Given the description of an element on the screen output the (x, y) to click on. 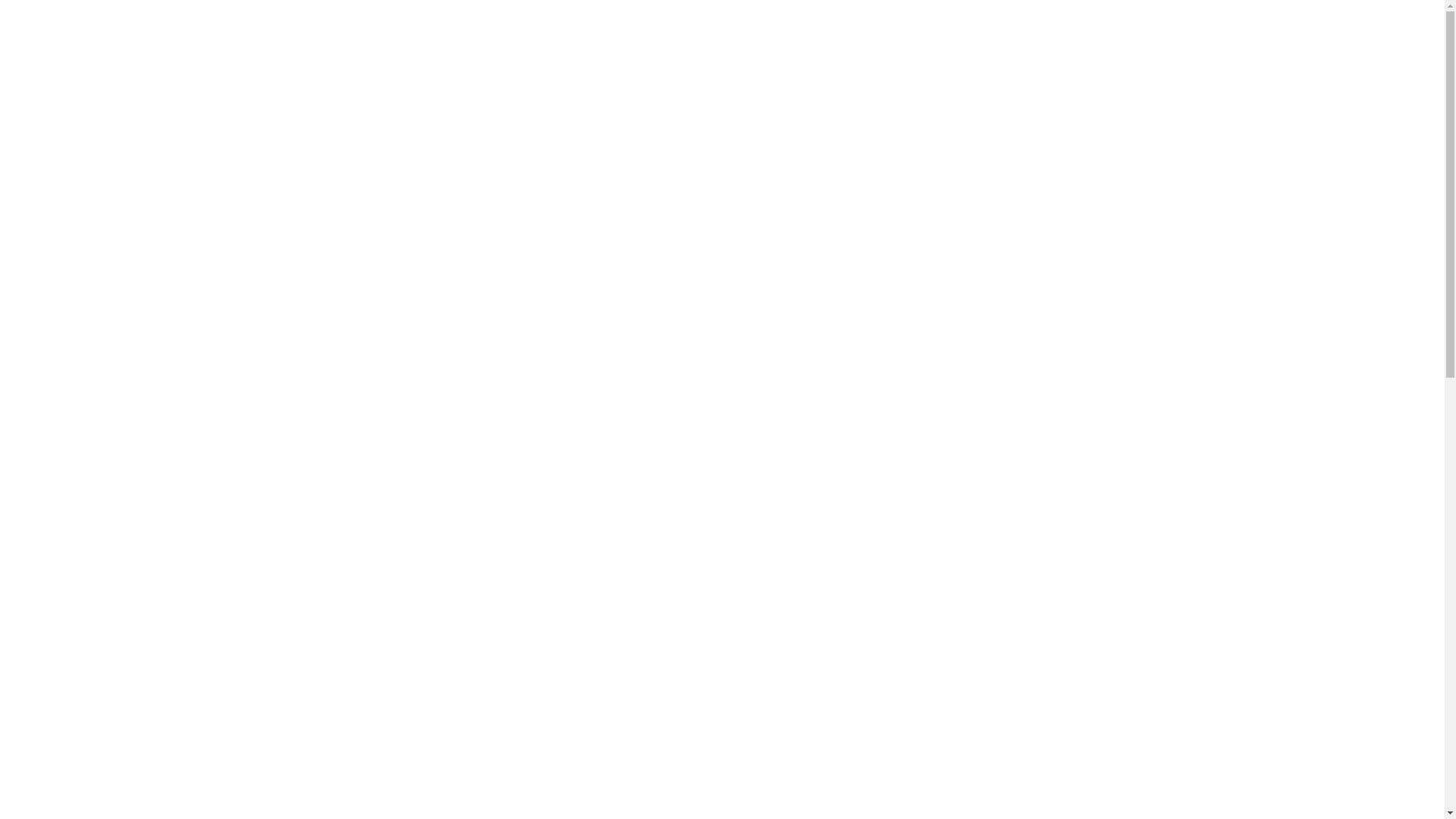
Testimonials Element type: text (603, 48)
Services Element type: text (689, 48)
ENQUIRE NOW Element type: text (1113, 49)
Contact Us Element type: text (928, 48)
Realize Your Dream Blog Element type: text (809, 48)
About Us Element type: text (514, 48)
Home Element type: text (443, 48)
